Given the description of an element on the screen output the (x, y) to click on. 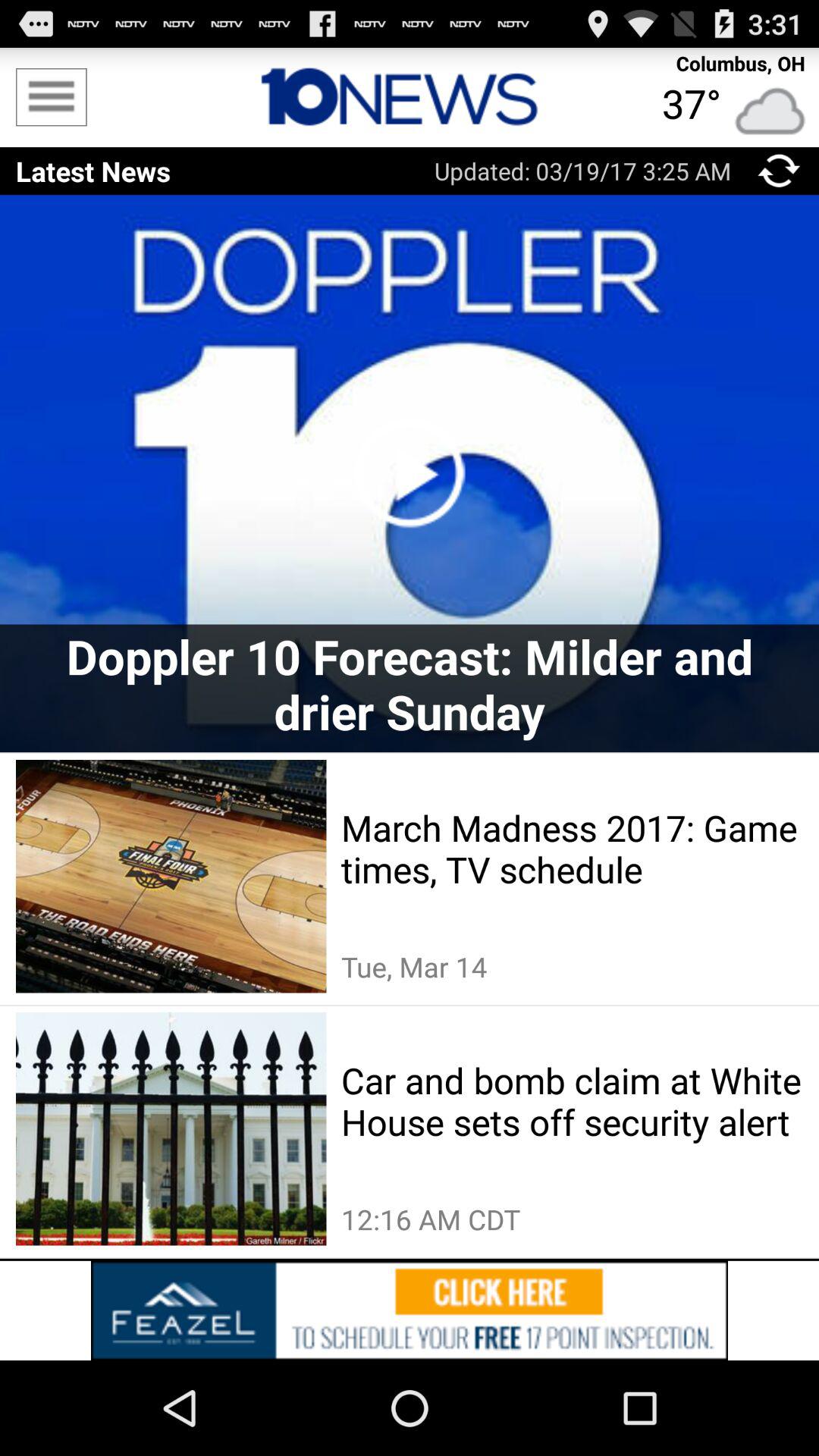
website home (409, 97)
